Given the description of an element on the screen output the (x, y) to click on. 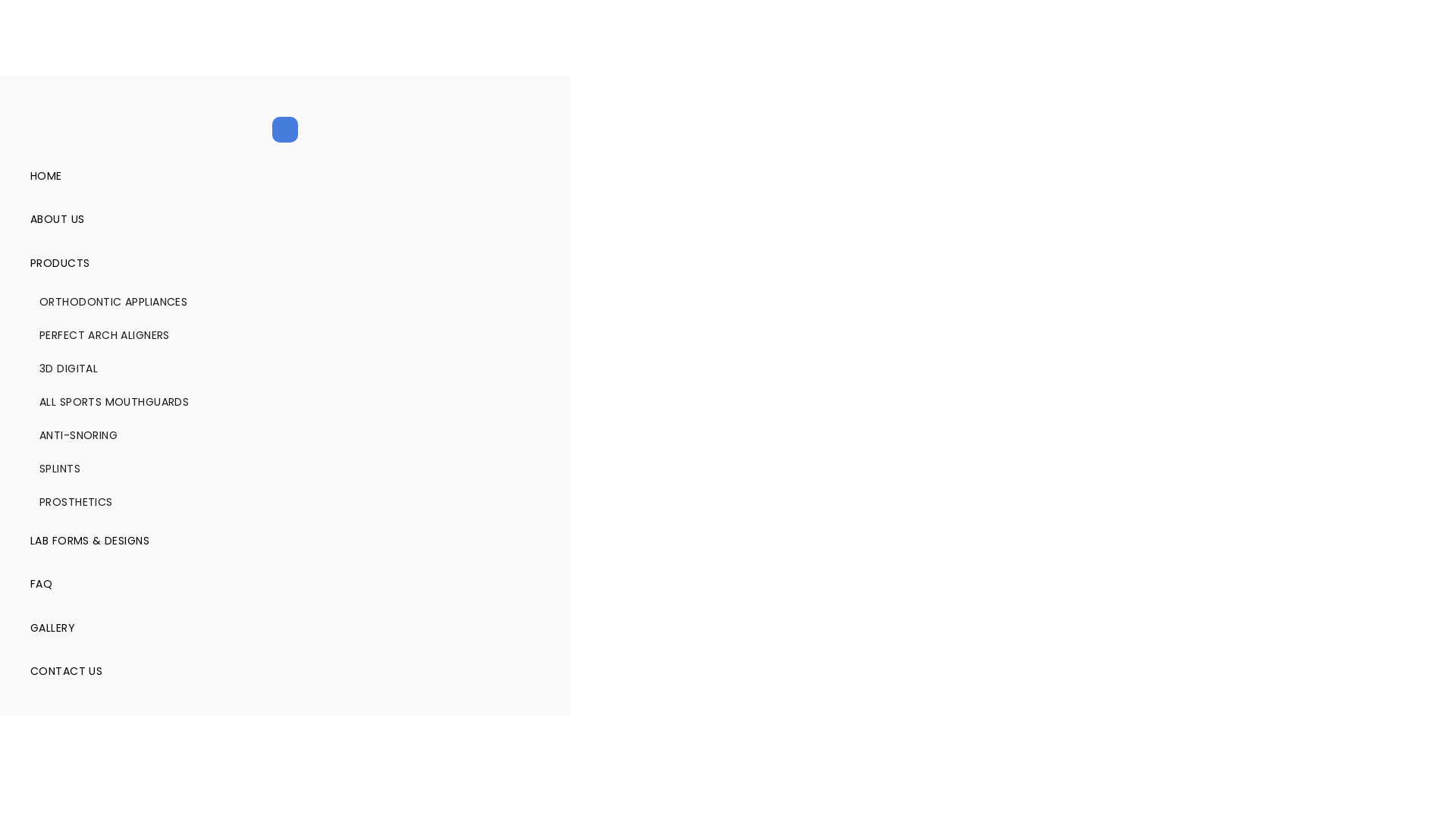
ABOUT US Element type: text (284, 219)
PERFECT ARCH ALIGNERS Element type: text (284, 334)
PROSTHETICS Element type: text (284, 501)
ALL SPORTS MOUTHGUARDS Element type: text (284, 401)
ORTHODONTIC APPLIANCES Element type: text (284, 301)
FAQ Element type: text (284, 583)
ANTI-SNORING Element type: text (284, 434)
PRODUCTS Element type: text (284, 263)
SPLINTS Element type: text (284, 468)
GALLERY Element type: text (284, 627)
3D DIGITAL Element type: text (284, 368)
CONTACT US Element type: text (284, 671)
LAB FORMS & DESIGNS Element type: text (284, 540)
HOME Element type: text (284, 175)
